Given the description of an element on the screen output the (x, y) to click on. 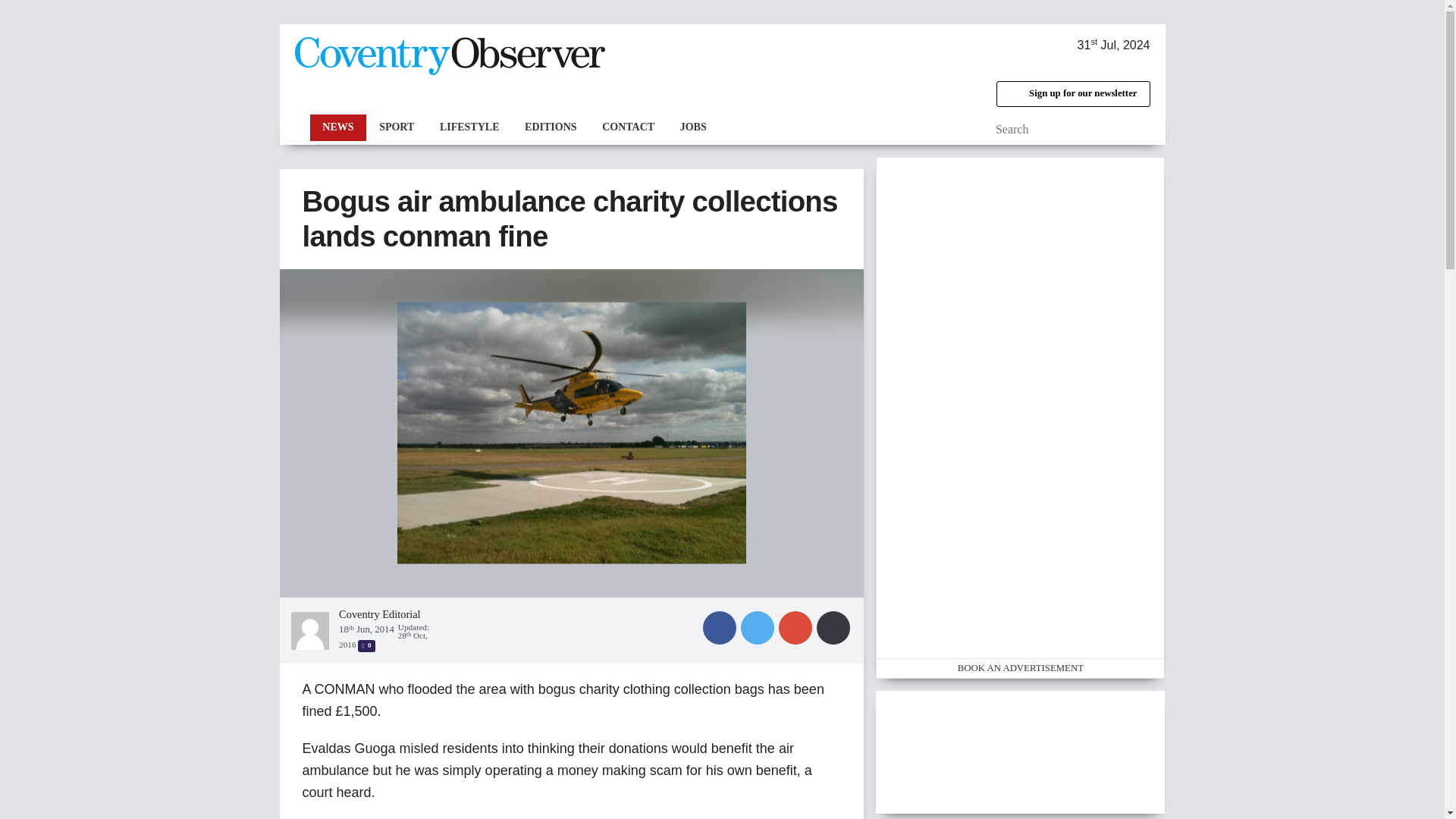
The Coventry Observer (449, 55)
CONTACT (627, 127)
NEWS (337, 127)
EDITIONS (550, 127)
LIFESTYLE (469, 127)
SPORT (396, 127)
JOBS (692, 127)
  Sign up for our newsletter (1072, 94)
